Given the description of an element on the screen output the (x, y) to click on. 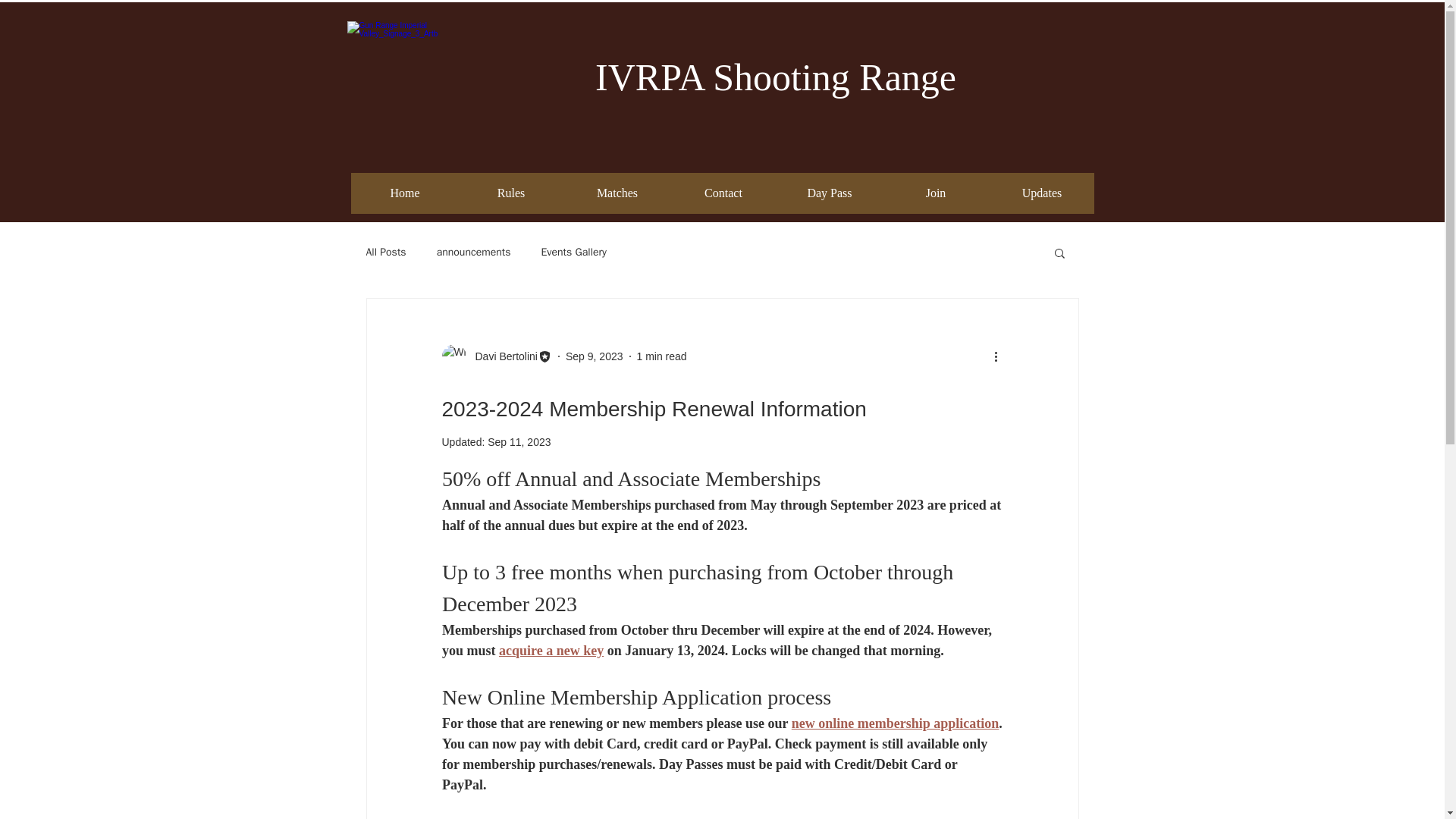
Events Gallery (574, 252)
Sep 11, 2023 (518, 441)
new online membership application (894, 723)
Join (935, 193)
Davi Bertolini (496, 355)
Davi Bertolini (501, 356)
Matches (617, 193)
Contact (723, 193)
acquire a new key (551, 650)
1 min read (662, 356)
